Given the description of an element on the screen output the (x, y) to click on. 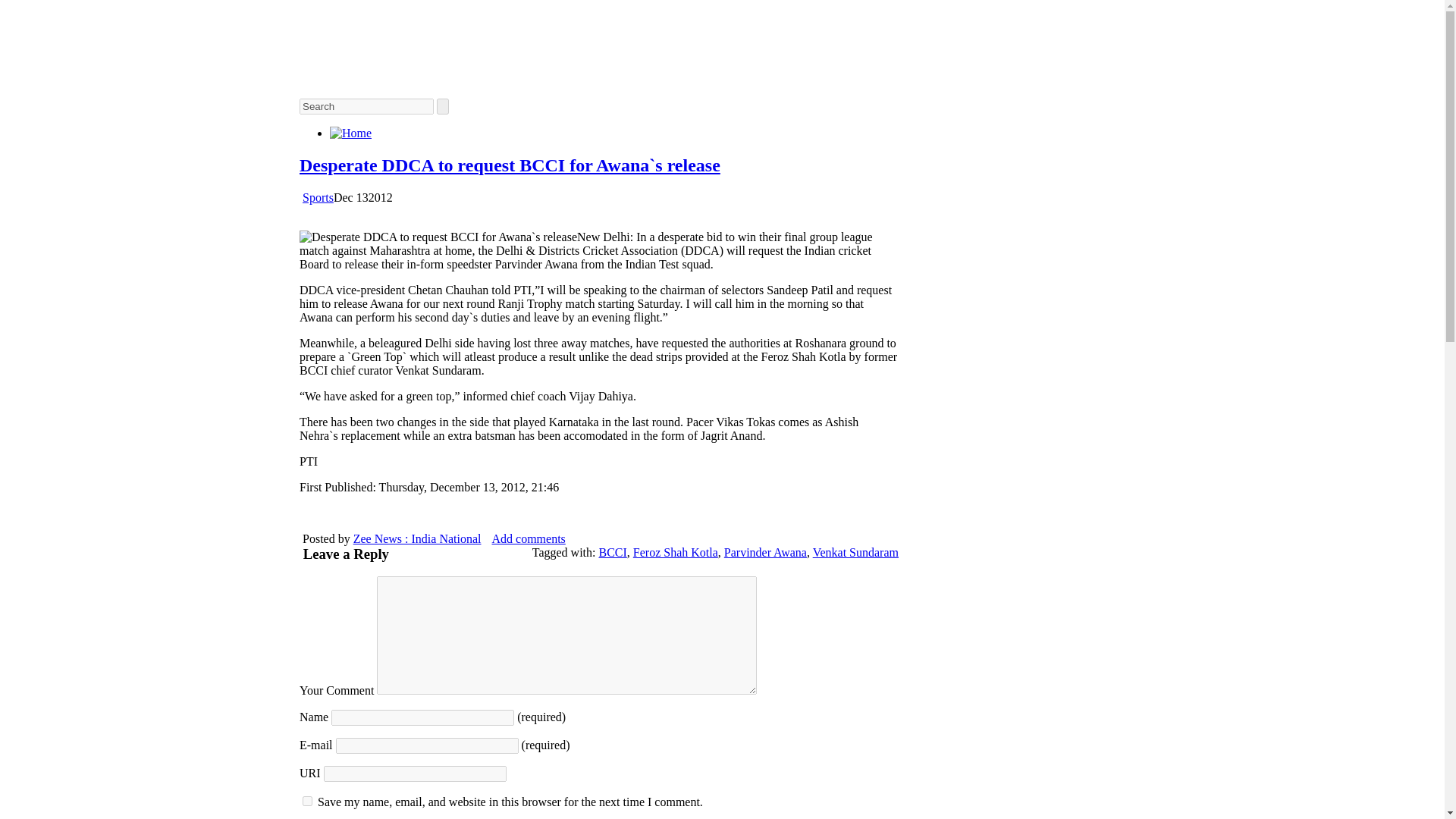
Search (366, 106)
Add comments (528, 538)
Venkat Sundaram (855, 552)
BCCI (612, 552)
Parvinder Awana (764, 552)
Sports (317, 196)
Search (366, 106)
Zee News : India National (417, 538)
Feroz Shah Kotla (675, 552)
yes (307, 800)
